Given the description of an element on the screen output the (x, y) to click on. 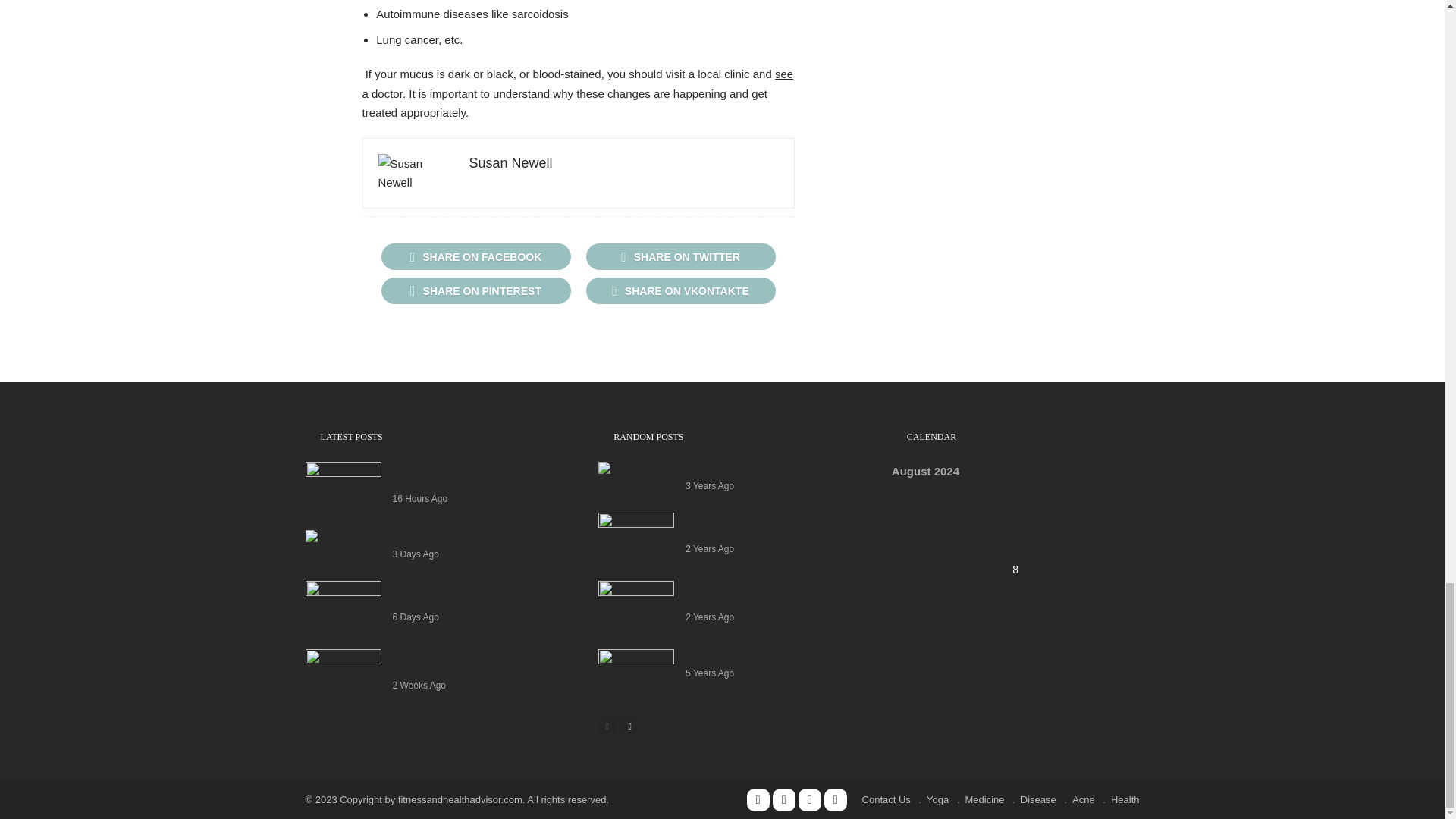
SHARE ON PINTEREST (475, 290)
Susan Newell (509, 162)
SHARE ON TWITTER (679, 256)
see a doctor (577, 83)
SHARE ON FACEBOOK (475, 256)
